Given the description of an element on the screen output the (x, y) to click on. 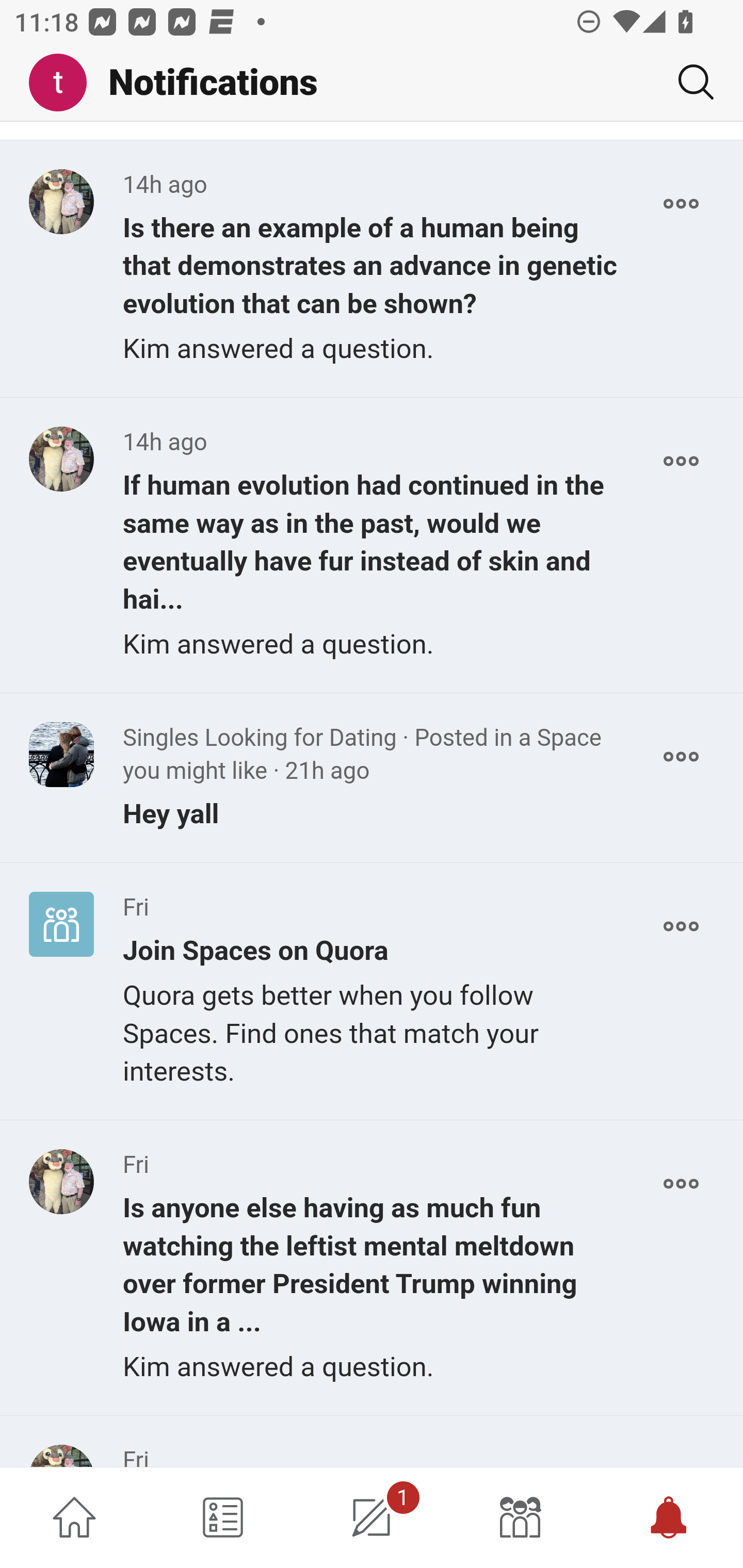
Me (64, 83)
Search (688, 82)
More (681, 203)
More (681, 460)
More (681, 756)
More (681, 925)
More (681, 1184)
1 (371, 1517)
